Given the description of an element on the screen output the (x, y) to click on. 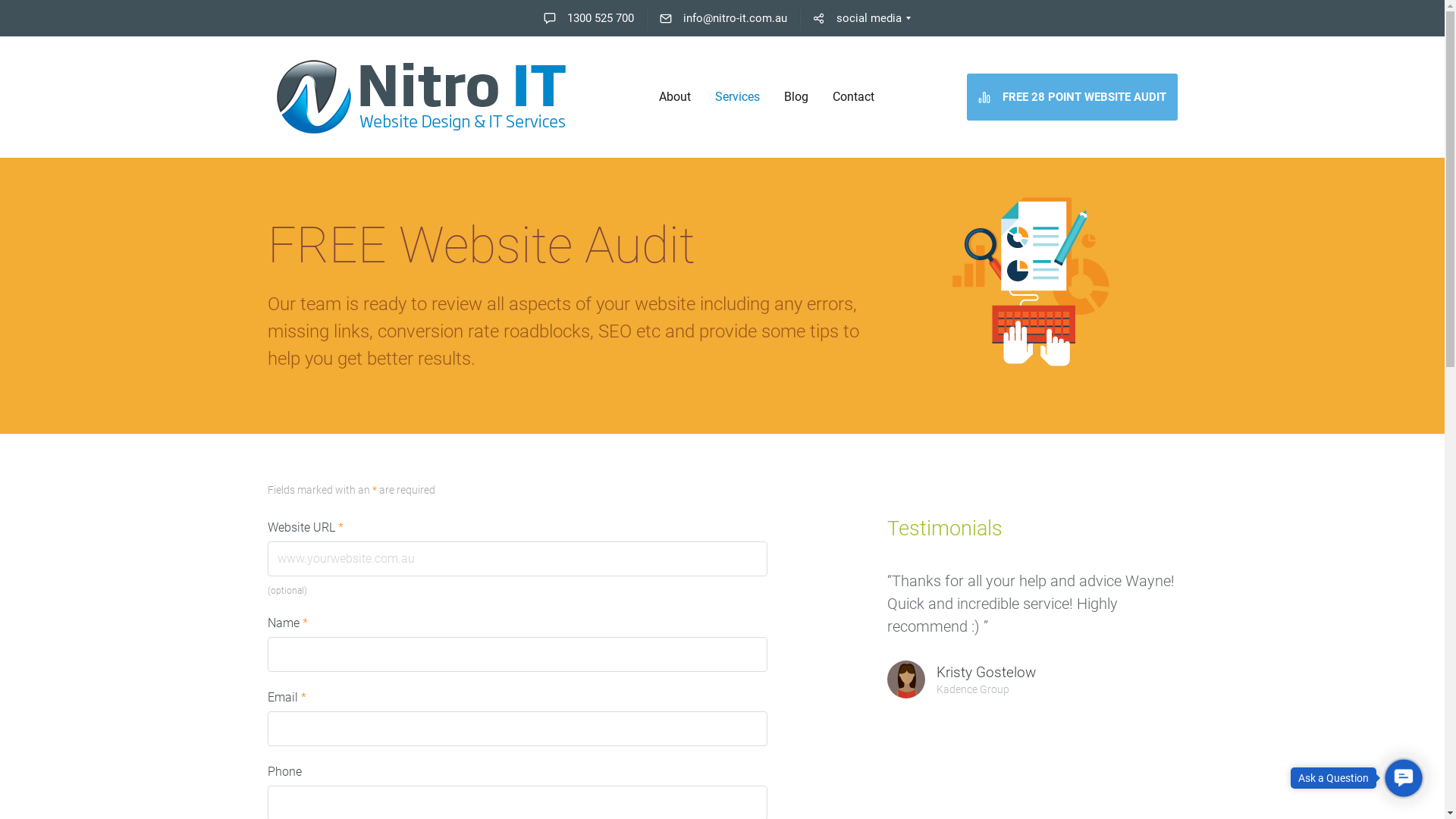
About Element type: text (674, 96)
Contact Us Element type: text (1402, 776)
Services Element type: text (736, 96)
social media Element type: text (856, 18)
info@nitro-it.com.au Element type: text (722, 18)
avatar-8 Element type: hover (906, 679)
Contact Element type: text (853, 96)
Nitro IT Element type: hover (420, 96)
FREE 28 POINT WEBSITE AUDIT Element type: text (1071, 96)
Blog Element type: text (795, 96)
